Given the description of an element on the screen output the (x, y) to click on. 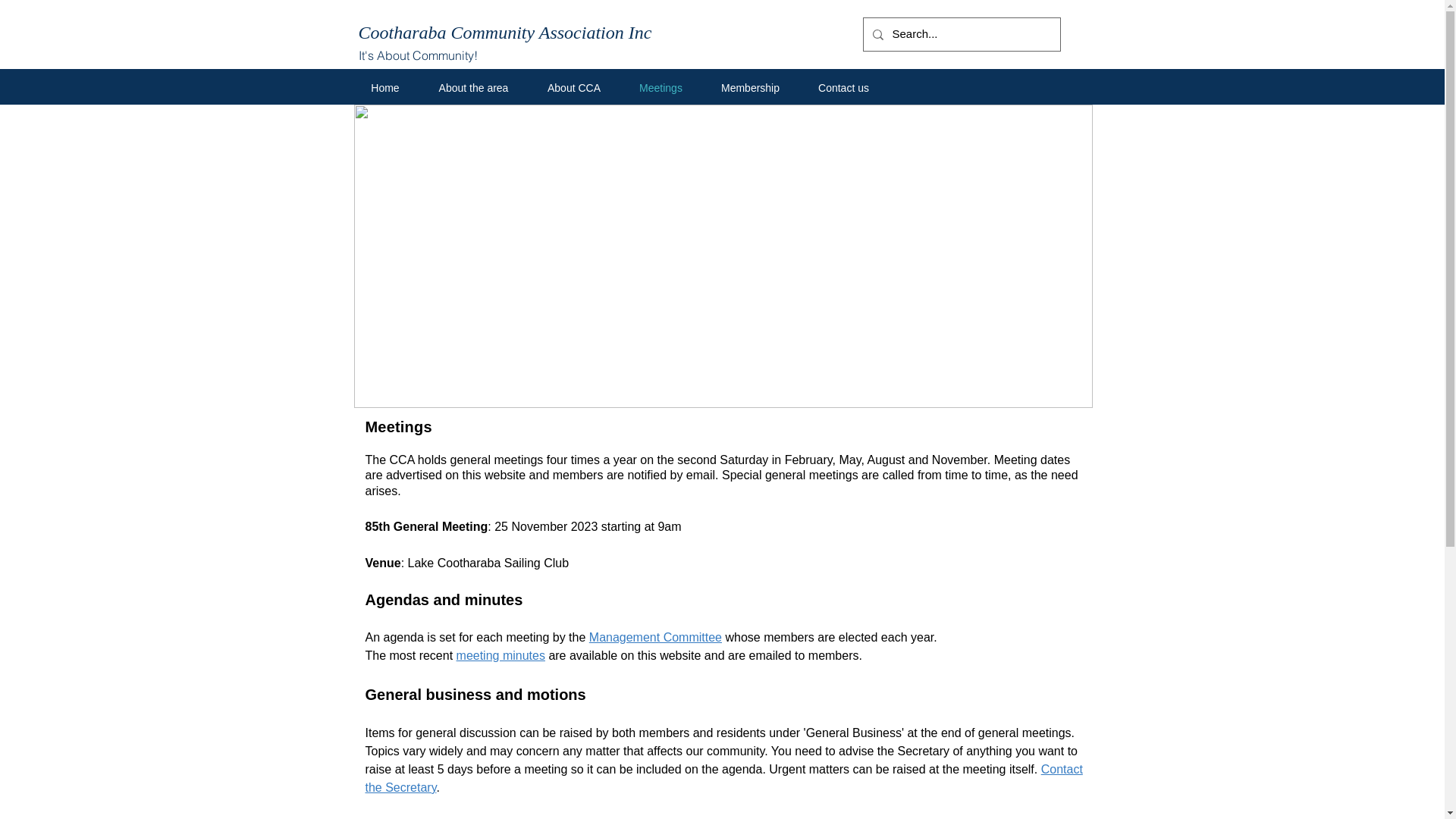
Home Element type: text (385, 87)
Contact the Secretary Element type: text (723, 777)
Membership Element type: text (750, 87)
Cootharaba Community Association Inc Element type: text (504, 32)
Management Committee Element type: text (655, 636)
Contact us Element type: text (843, 87)
Meetings Element type: text (661, 87)
About the area Element type: text (472, 87)
About CCA Element type: text (573, 87)
meeting minutes Element type: text (500, 655)
